Given the description of an element on the screen output the (x, y) to click on. 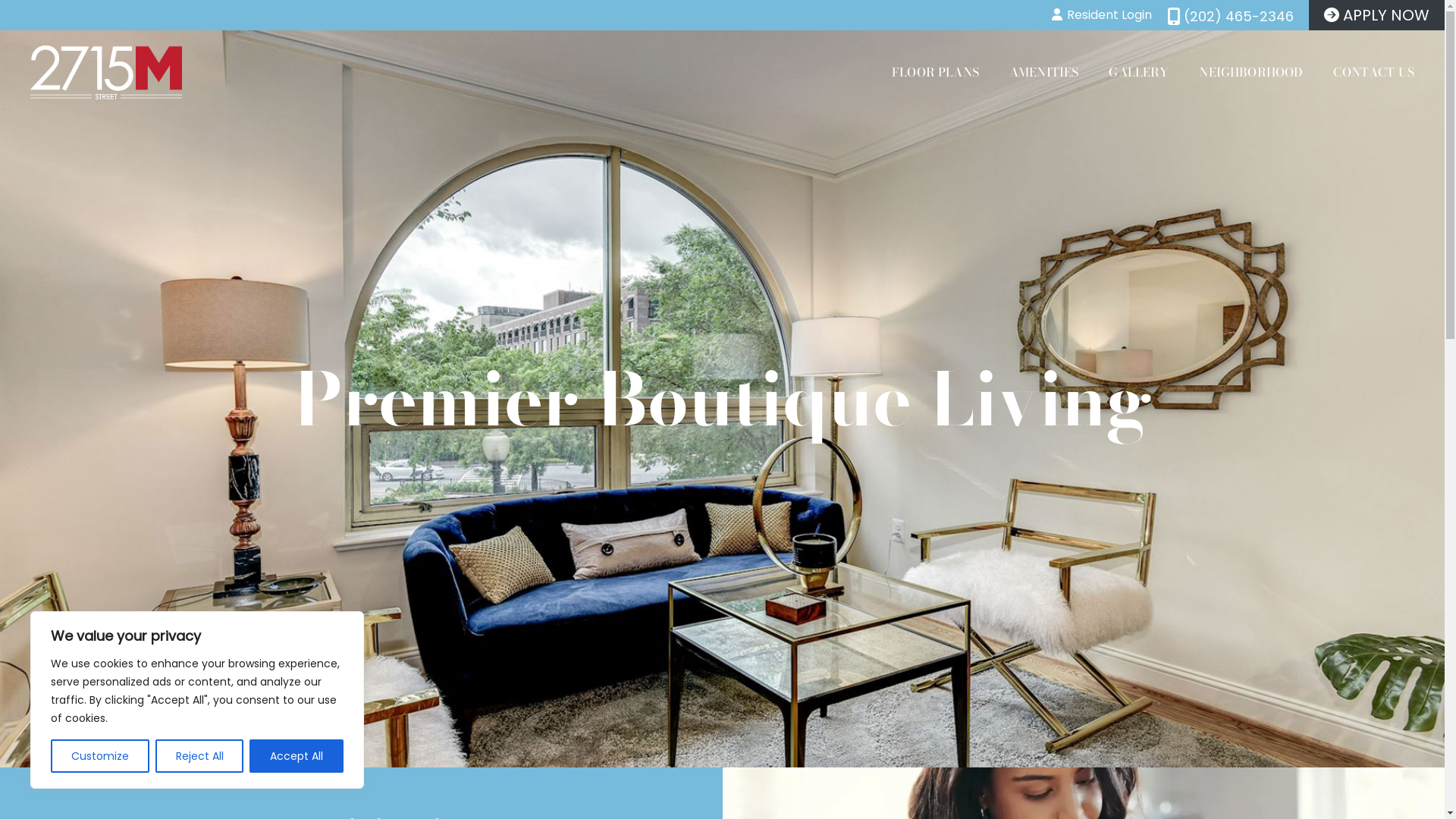
Reject All Element type: text (199, 755)
FLOOR PLANS Element type: text (935, 71)
Accept All Element type: text (296, 755)
CONTACT US Element type: text (1373, 71)
APPLY NOW Element type: text (1376, 15)
Customize Element type: text (99, 755)
GALLERY Element type: text (1138, 71)
AMENITIES Element type: text (1043, 71)
Resident Login Element type: text (1101, 14)
NEIGHBORHOOD Element type: text (1250, 71)
(202) 465-2346 Element type: text (1230, 16)
